Given the description of an element on the screen output the (x, y) to click on. 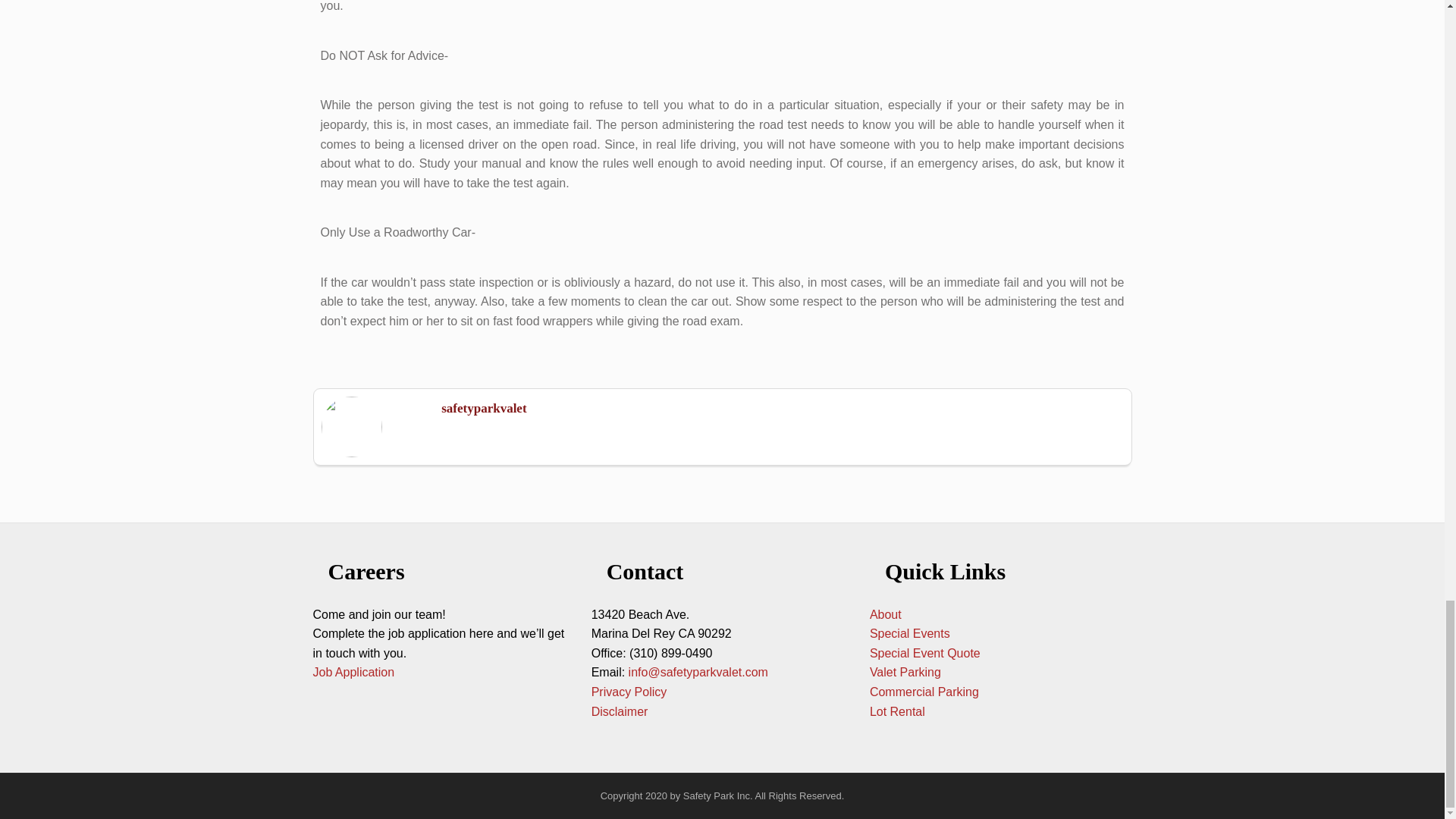
Job Application (353, 671)
Commercial Parking  (925, 691)
About (885, 614)
Lot Rental (896, 711)
Privacy Policy (628, 691)
Valet Parking (904, 671)
Special Event Quote (924, 653)
Special Events (909, 633)
Disclaimer (619, 711)
